Given the description of an element on the screen output the (x, y) to click on. 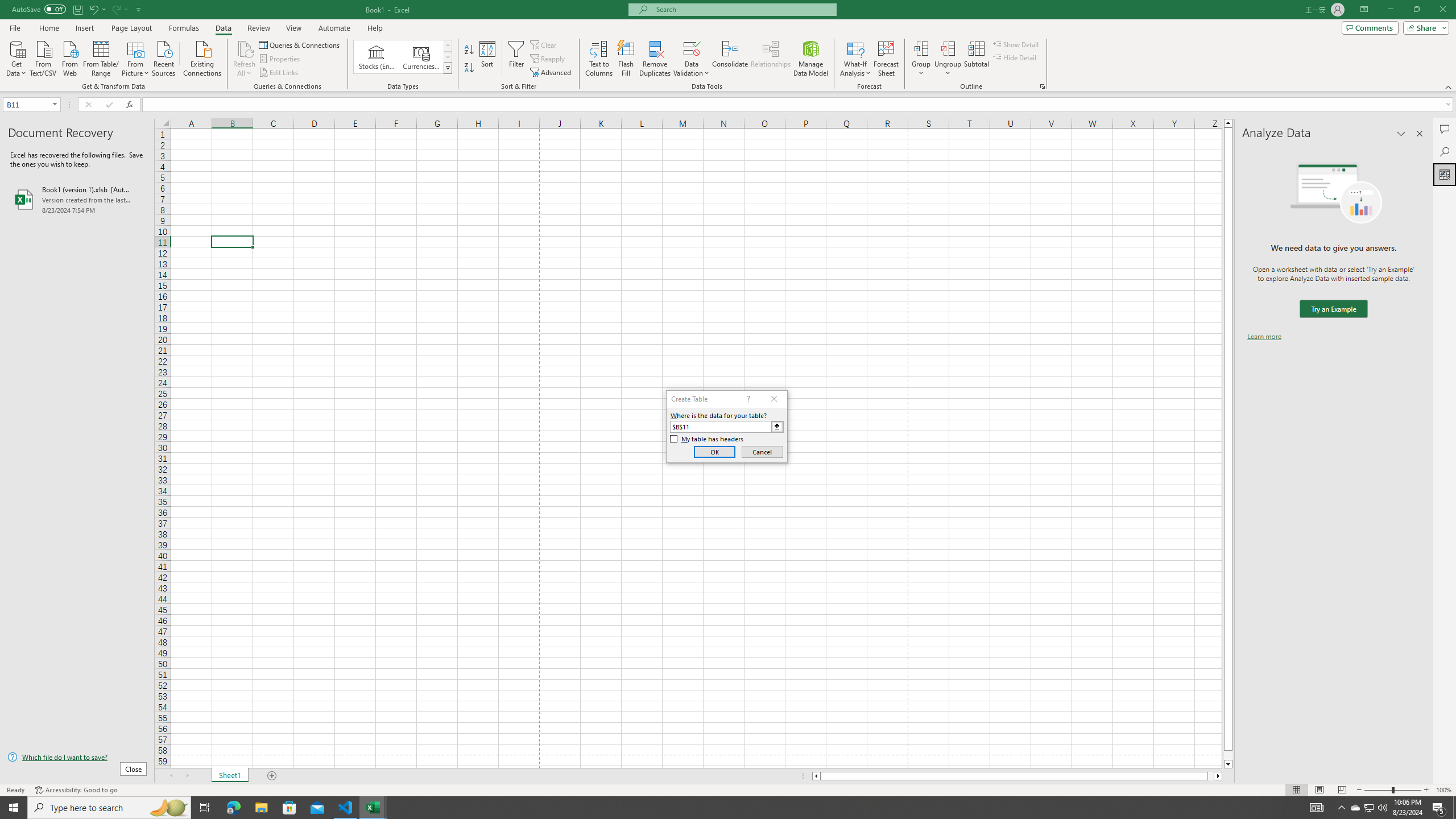
Edit Links (279, 72)
Review (258, 28)
Minimize (1390, 9)
Analyze Data (1444, 173)
Close pane (1419, 133)
Add Sheet (272, 775)
From Text/CSV (43, 57)
Data Types (448, 67)
Row up (448, 45)
Save (77, 9)
Quick Access Toolbar (77, 9)
